Given the description of an element on the screen output the (x, y) to click on. 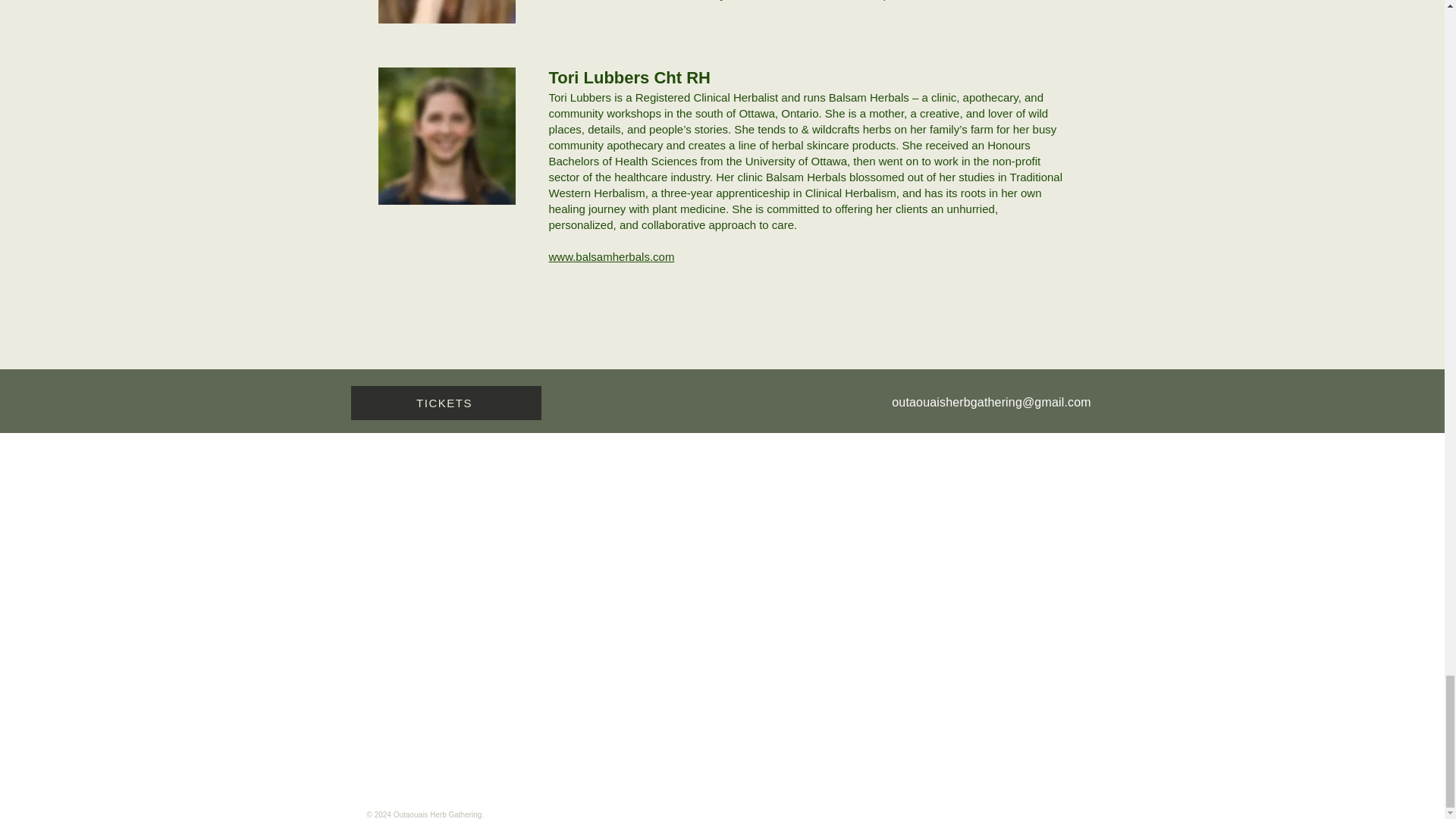
Abrah-portrait-2.jpeg (446, 11)
www.balsamherbals.com (611, 256)
Abrah-portrait-2.jpeg (446, 135)
TICKETS (445, 402)
